Given the description of an element on the screen output the (x, y) to click on. 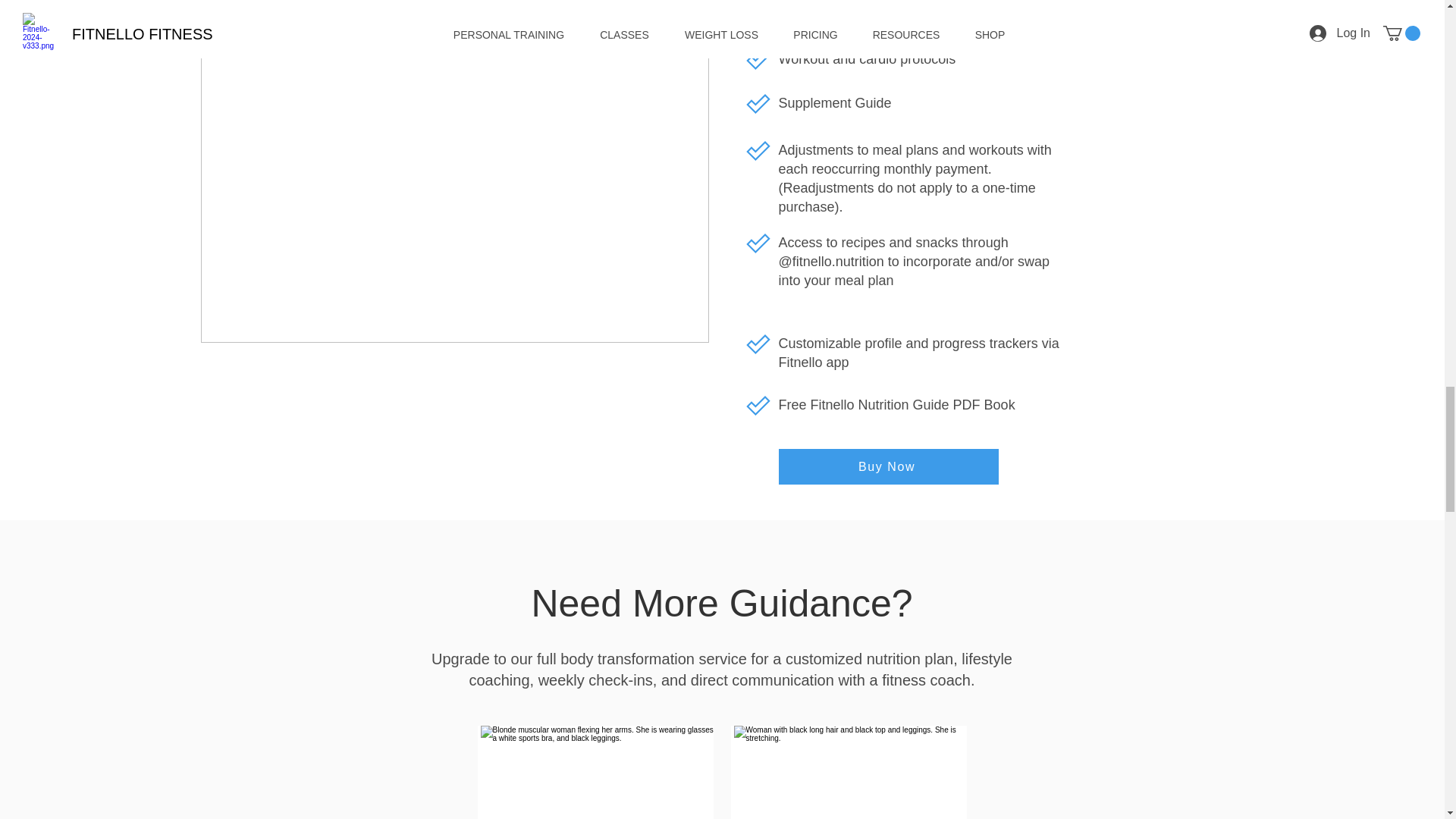
Buy Now (887, 466)
